Given the description of an element on the screen output the (x, y) to click on. 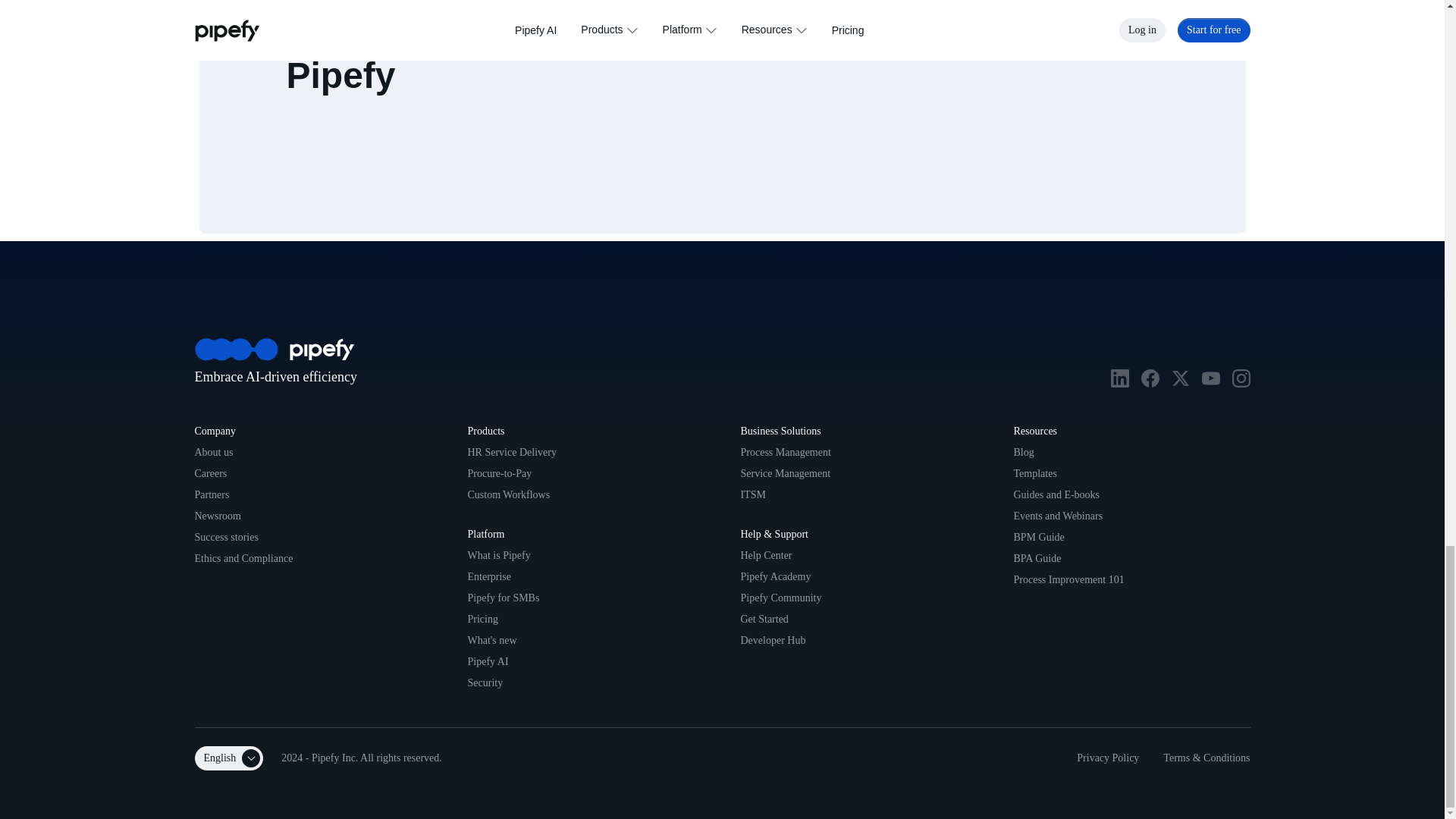
Careers (210, 473)
Request a demo (1040, 15)
About us (212, 451)
Partners (210, 494)
Try Pipefy free (899, 15)
